Given the description of an element on the screen output the (x, y) to click on. 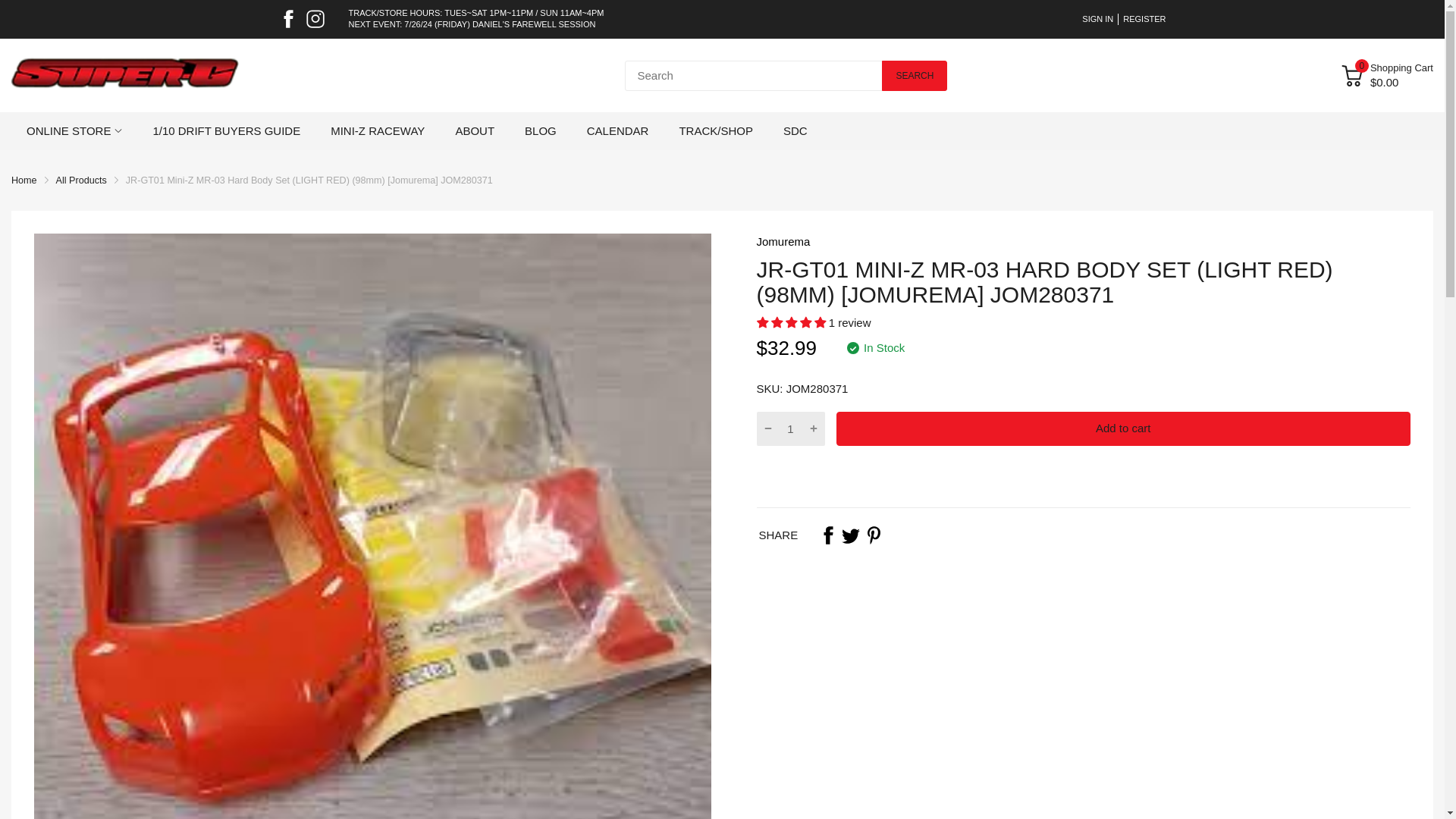
Pinterest (873, 535)
ABOUT (474, 130)
ONLINE STORE (68, 130)
Home (24, 180)
0 (1351, 75)
Twitter (850, 535)
All Products (81, 180)
SIGN IN (1097, 19)
CALENDAR (617, 130)
Facebook (288, 18)
Add to cart (1122, 428)
Jomurema (783, 241)
Instagram (314, 18)
Facebook (827, 535)
MINI-Z RACEWAY (377, 130)
